Given the description of an element on the screen output the (x, y) to click on. 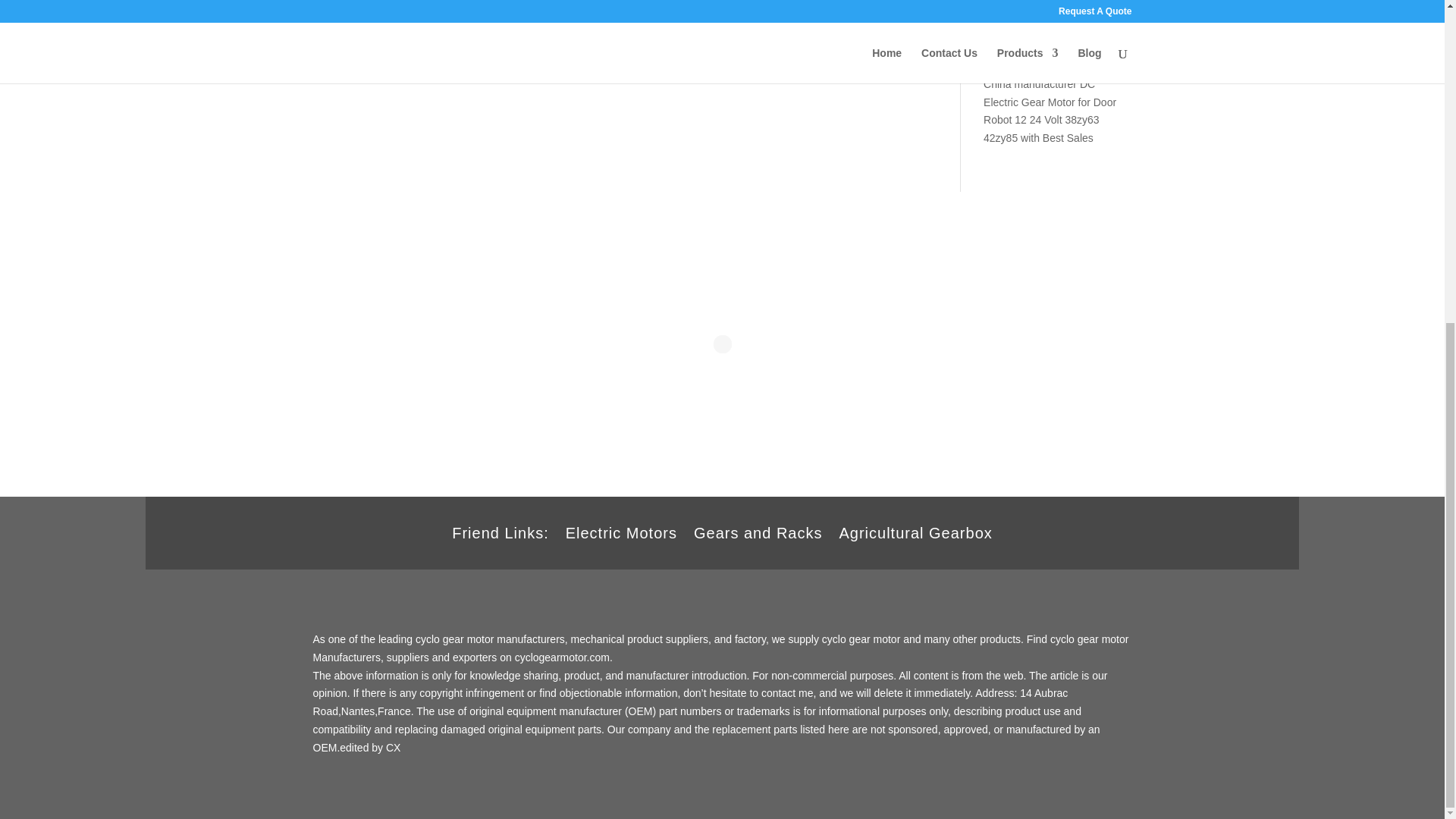
Gears and Racks (758, 535)
elements (625, 15)
Electric Motors (621, 535)
Agricultural Gearbox (914, 535)
Friend Links: (499, 535)
